Given the description of an element on the screen output the (x, y) to click on. 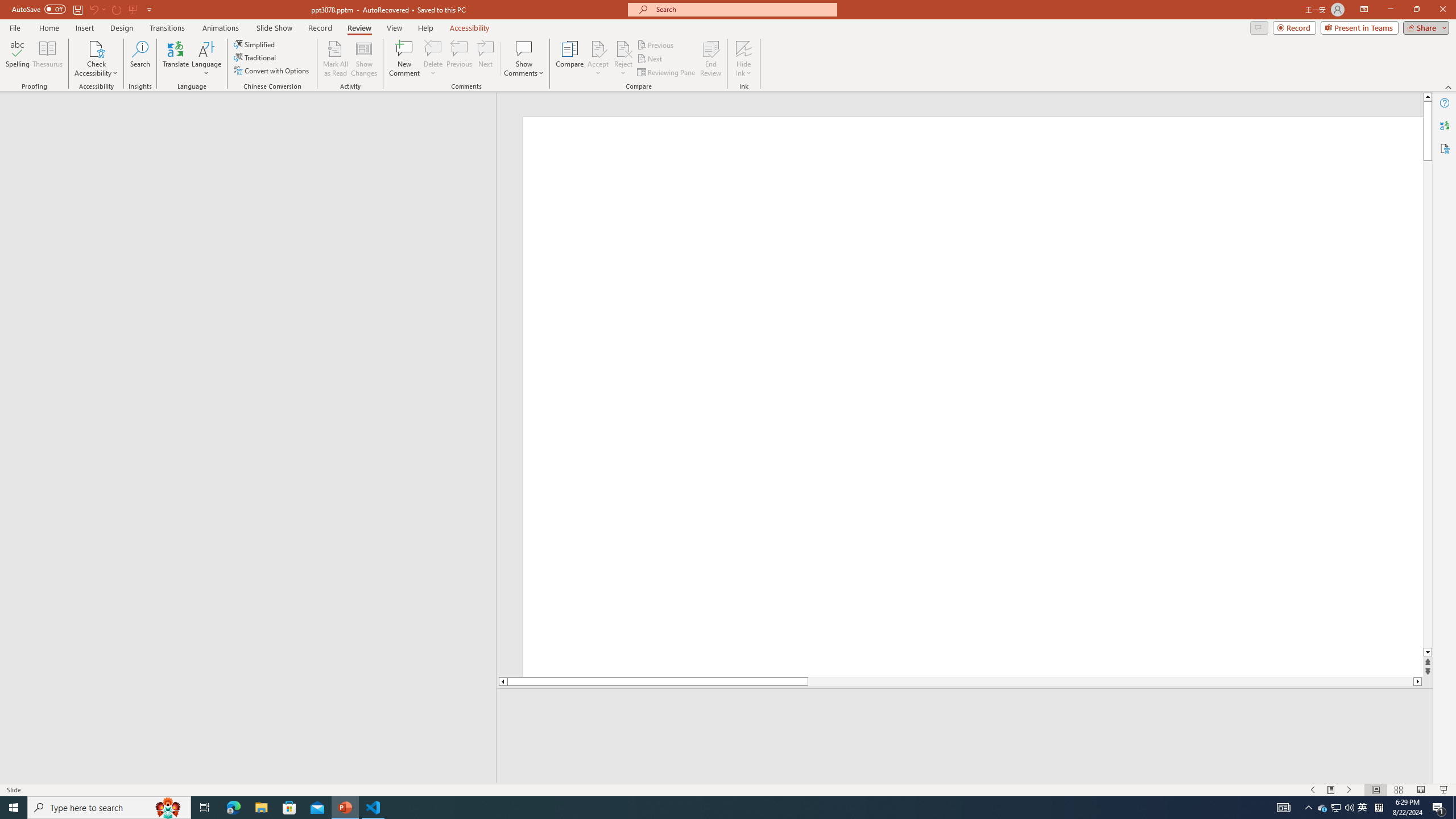
Previous (655, 44)
Reviewing Pane (666, 72)
Translate (175, 58)
Spelling... (17, 58)
